Given the description of an element on the screen output the (x, y) to click on. 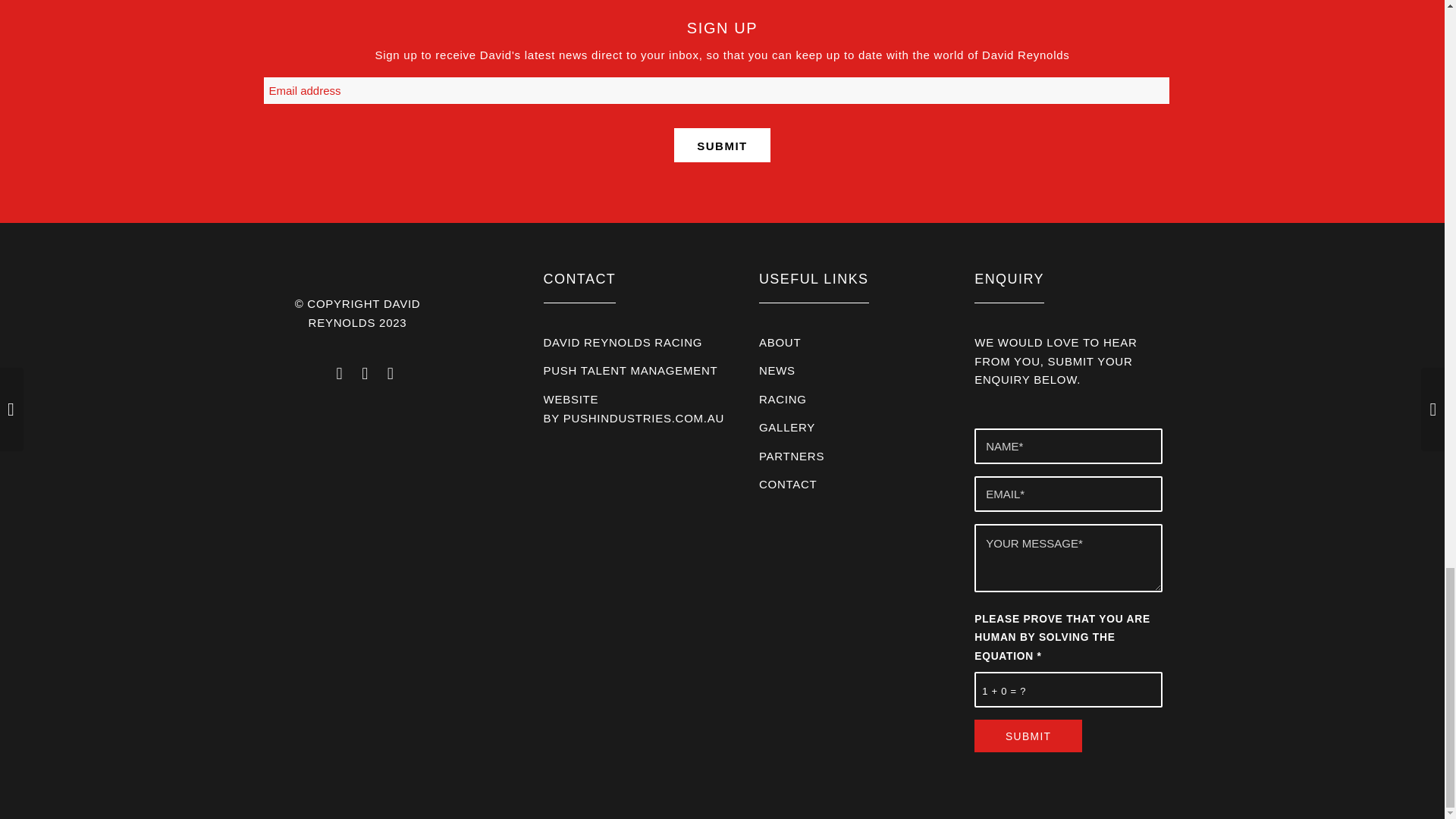
Submit (722, 144)
Submit (722, 144)
ABOUT (779, 341)
RACING (782, 399)
CONTACT (787, 483)
PUSHINDUSTRIES.COM.AU (643, 418)
Submit (1027, 735)
NEWS (776, 369)
Submit (1027, 735)
PARTNERS (791, 455)
GALLERY (786, 427)
